Given the description of an element on the screen output the (x, y) to click on. 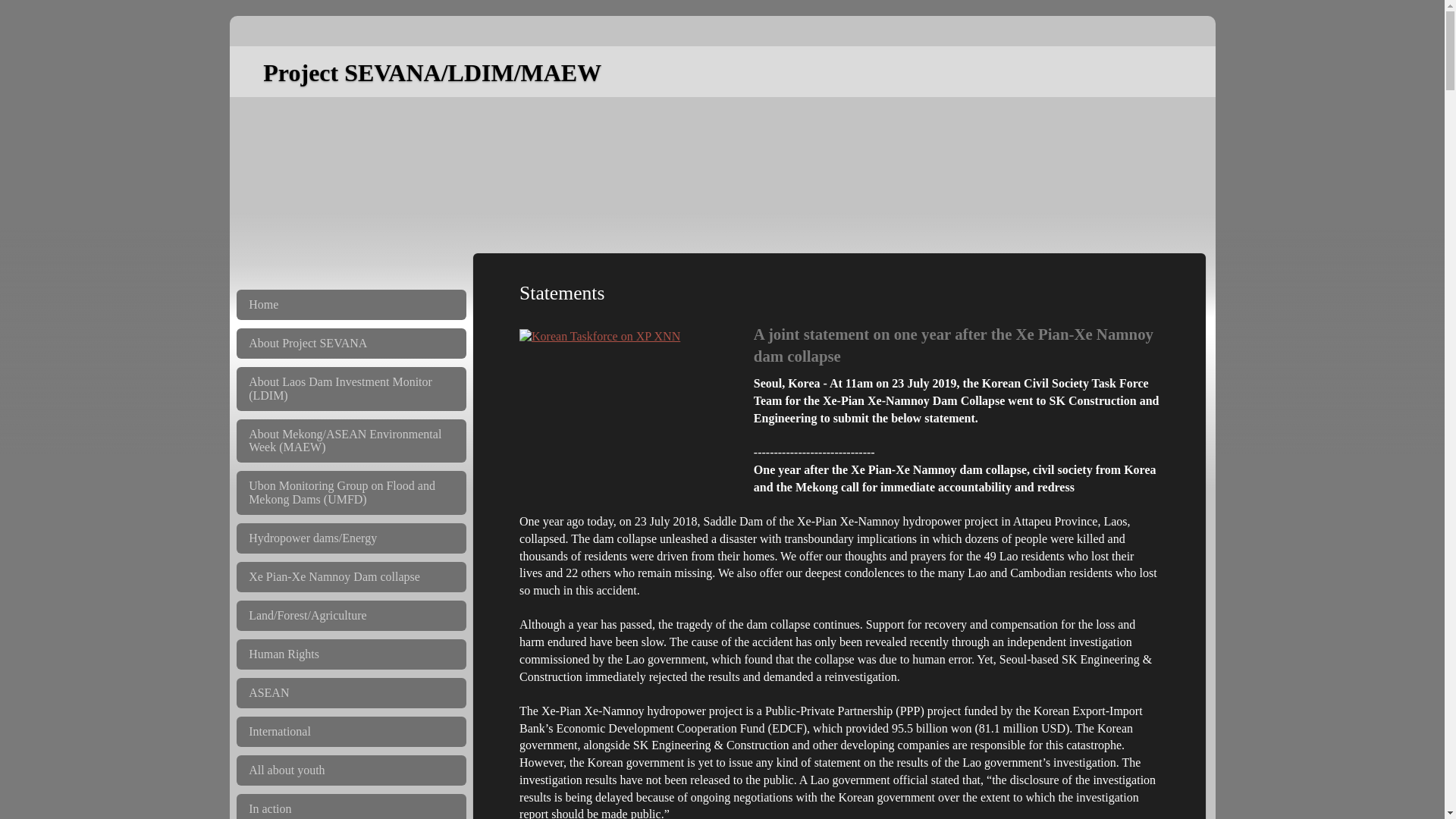
Xe Pian-Xe Namnoy Dam collapse (350, 576)
ASEAN  (350, 693)
International (350, 731)
In action (350, 806)
All about youth (350, 770)
Home (350, 304)
Human Rights  (350, 654)
About Project SEVANA (350, 343)
